Given the description of an element on the screen output the (x, y) to click on. 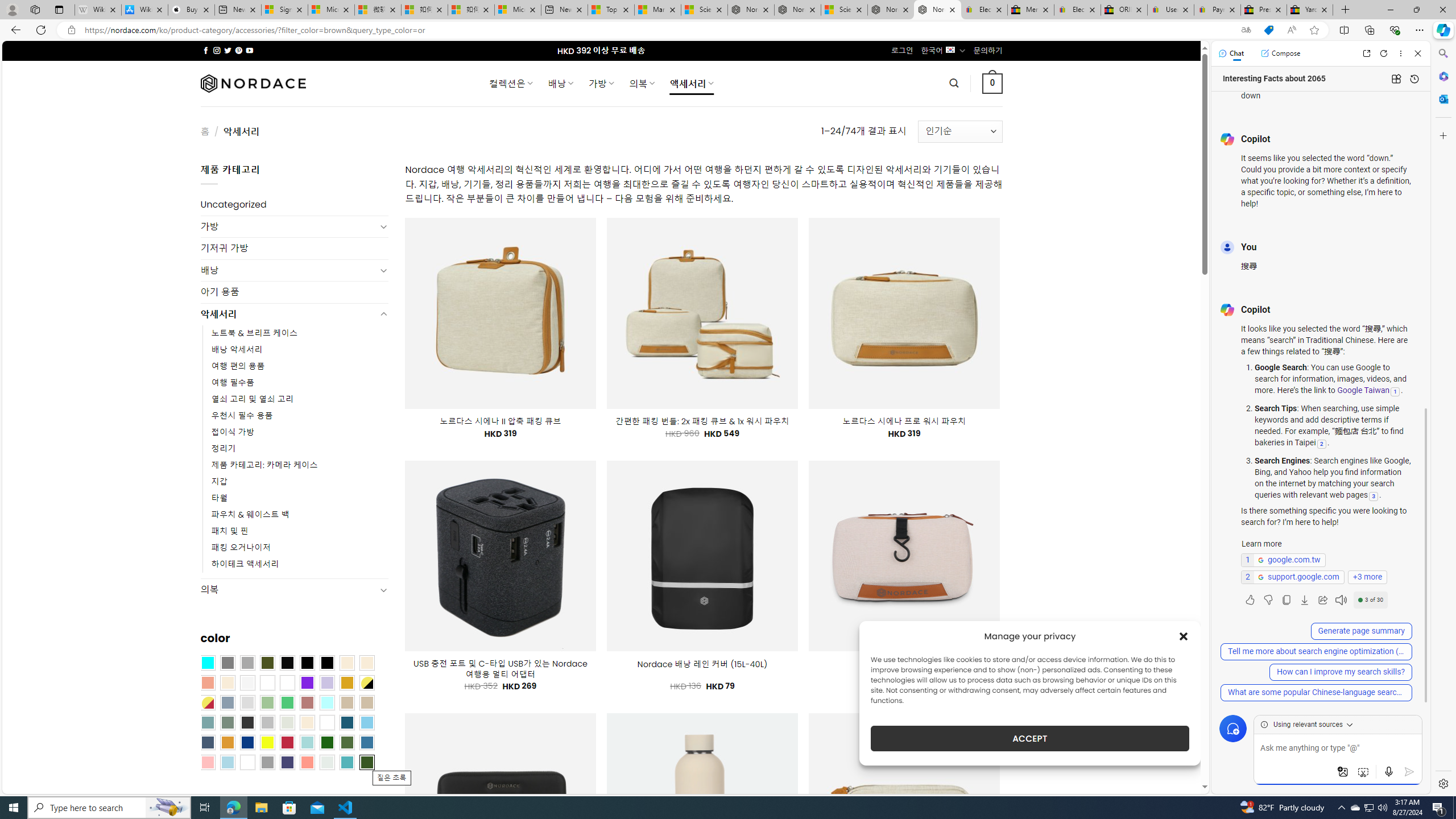
User Privacy Notice | eBay (1170, 9)
